Given the description of an element on the screen output the (x, y) to click on. 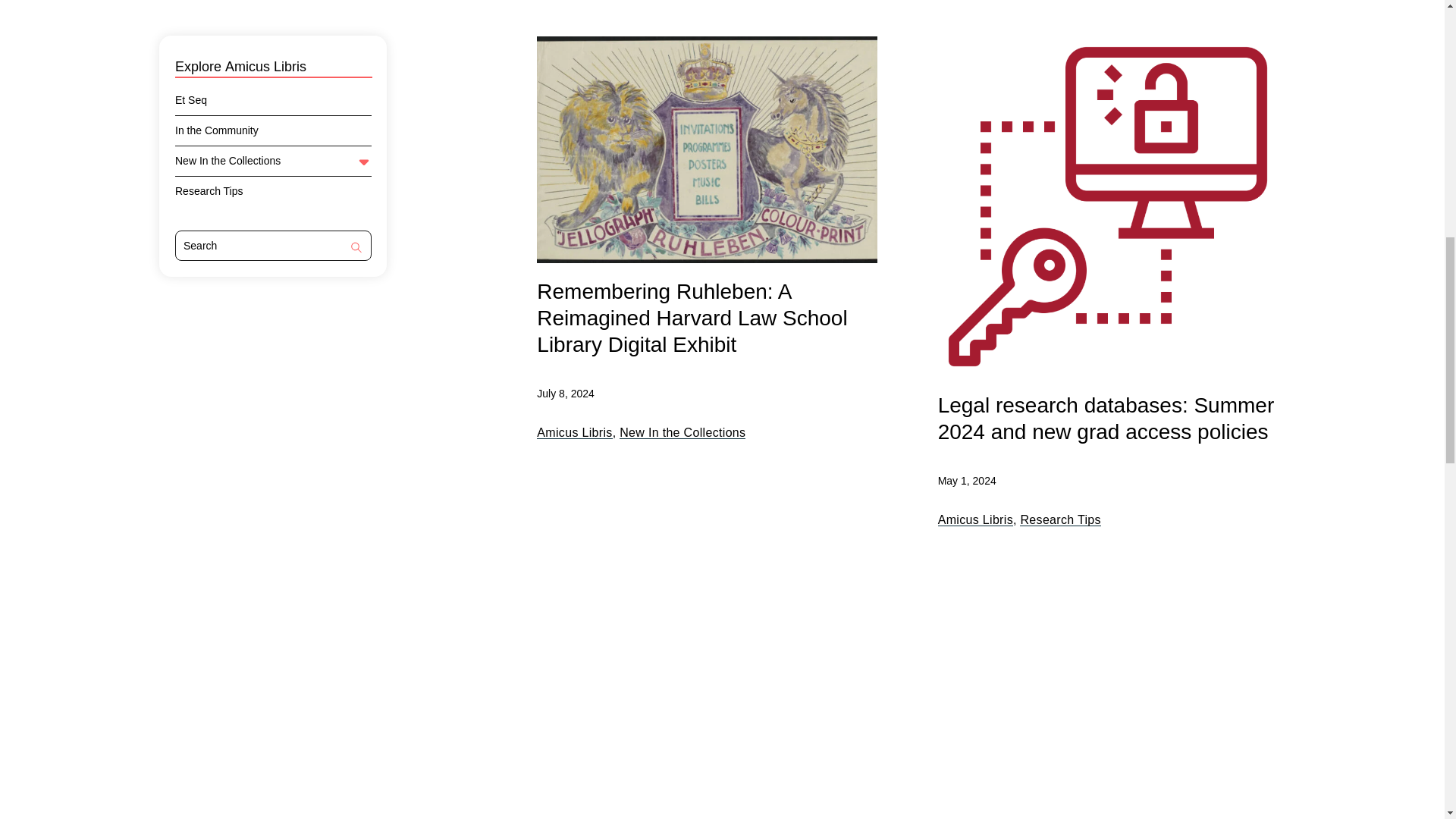
Search (356, 248)
